Given the description of an element on the screen output the (x, y) to click on. 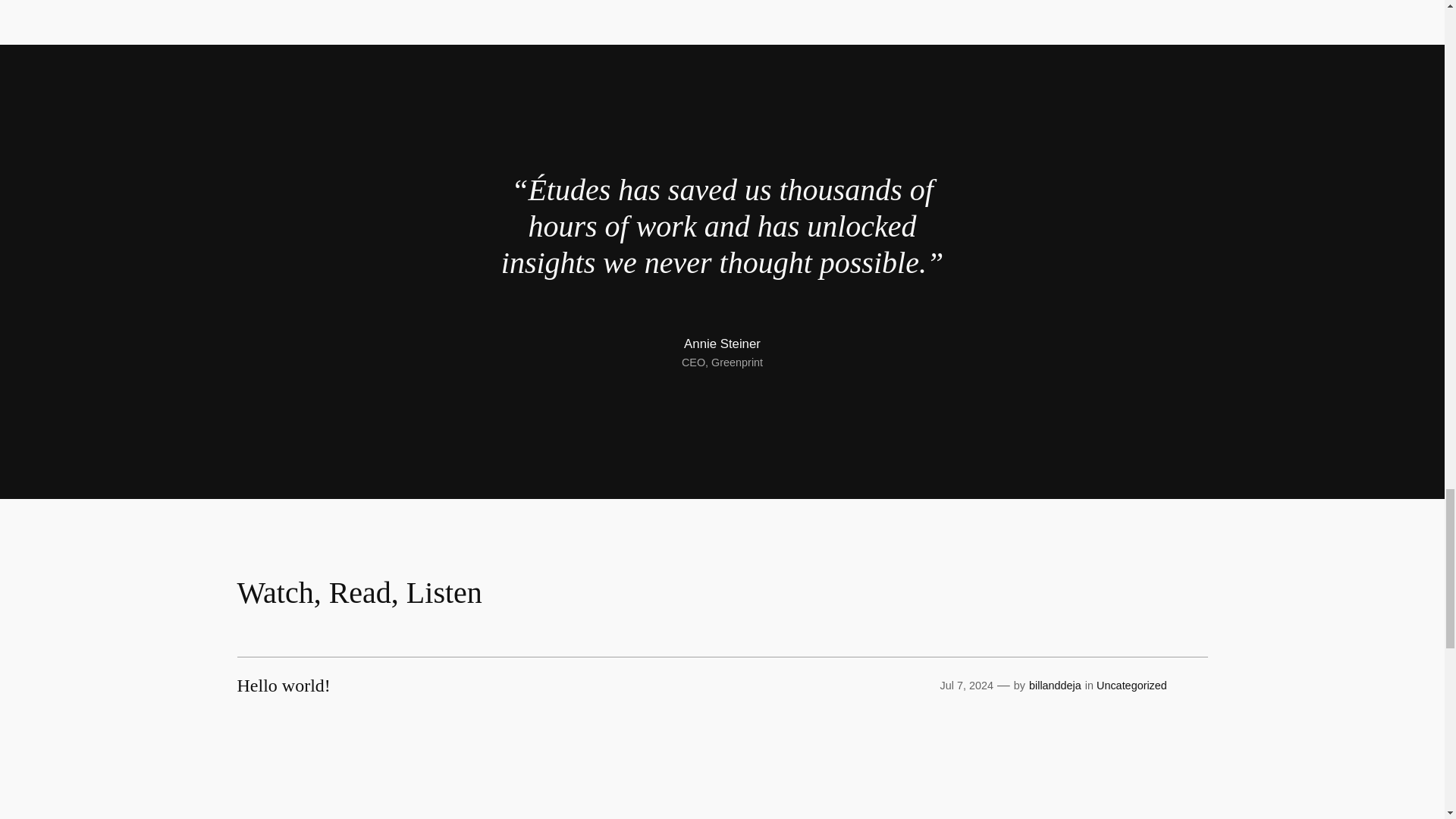
Uncategorized (1131, 685)
Jul 7, 2024 (965, 685)
billanddeja (1055, 685)
Hello world! (282, 685)
